Given the description of an element on the screen output the (x, y) to click on. 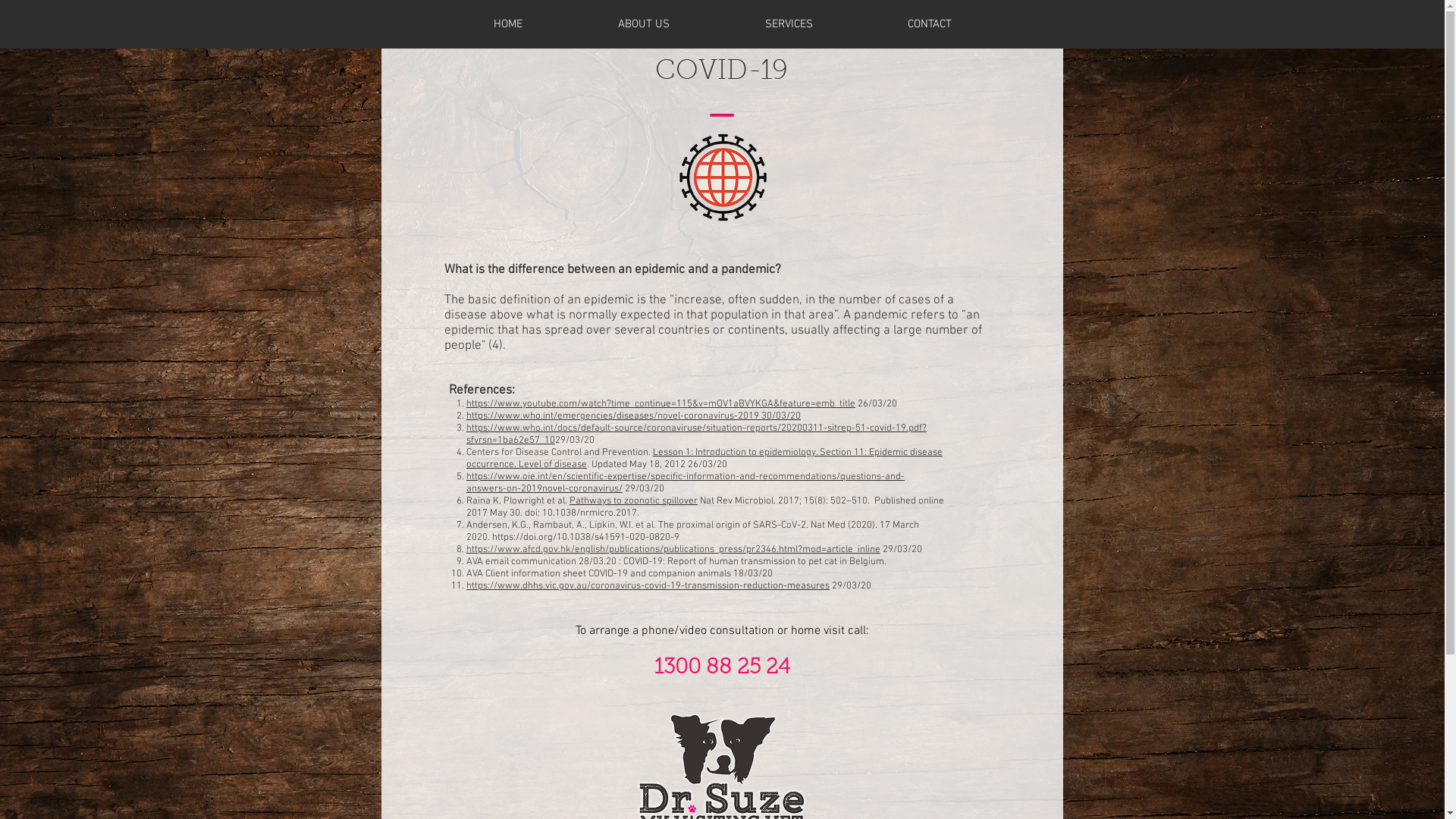
Pathways to zoonotic spillover Element type: text (633, 501)
HOME Element type: text (507, 24)
https://doi.org/10.1038/s41591-020-0820-9 Element type: text (585, 537)
SERVICES Element type: text (788, 24)
CONTACT Element type: text (928, 24)
ABOUT US Element type: text (643, 24)
